Given the description of an element on the screen output the (x, y) to click on. 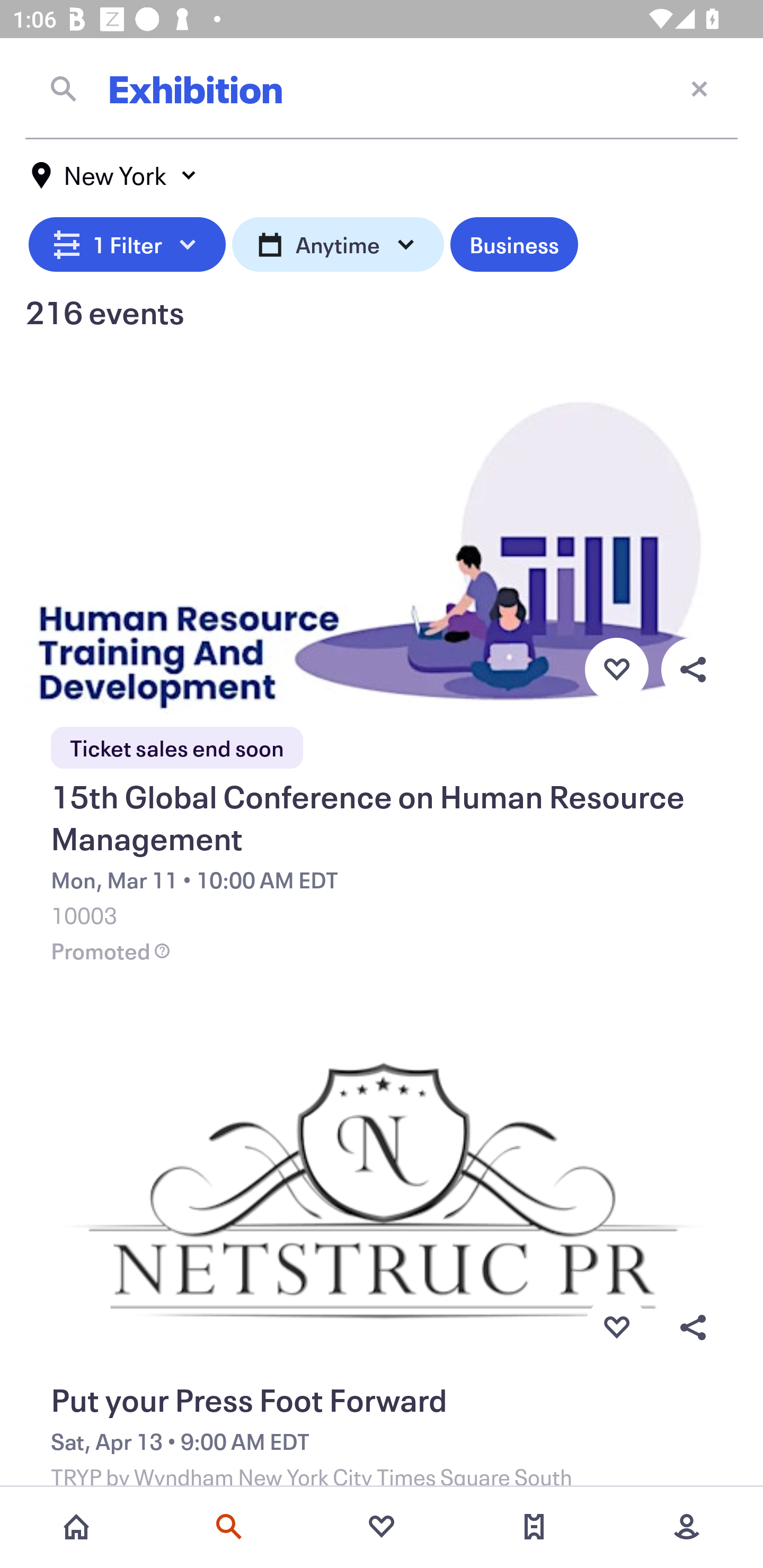
Exhibition Close current screen (381, 88)
Close current screen (699, 88)
New York (114, 175)
1 Filter (126, 241)
Anytime (337, 241)
Business (514, 241)
Favorite button (616, 669)
Overflow menu button (692, 669)
Favorite button (616, 1326)
Overflow menu button (692, 1326)
Home (76, 1526)
Search events (228, 1526)
Favorites (381, 1526)
Tickets (533, 1526)
More (686, 1526)
